Given the description of an element on the screen output the (x, y) to click on. 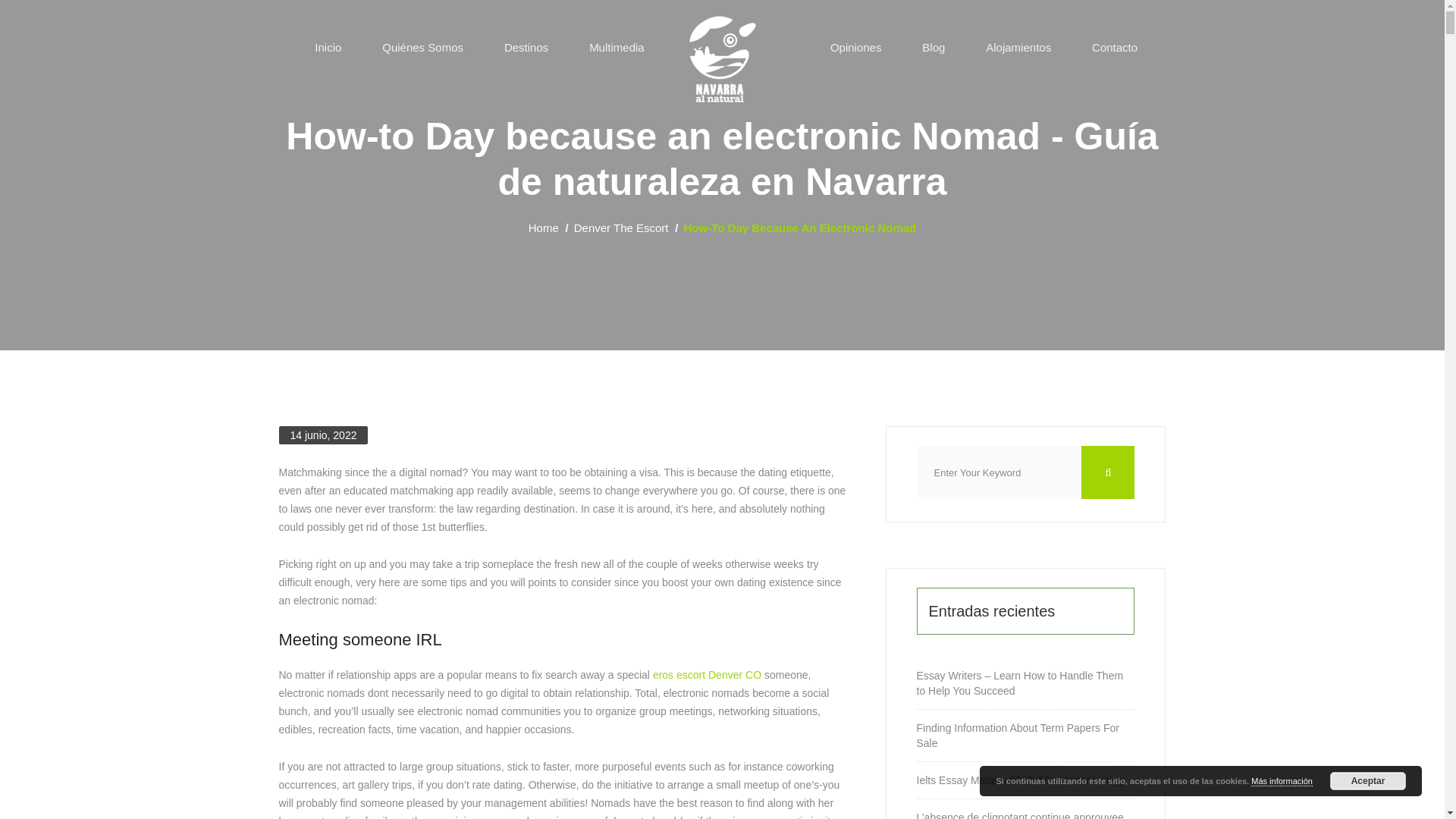
Hubli (722, 54)
Inicio (327, 46)
Destinos (525, 46)
Inicio (327, 46)
Opiniones (855, 46)
Destinos (525, 46)
eros escort Denver CO (706, 674)
Blog (932, 46)
Finding Information About Term Papers For Sale (1024, 735)
Contacto (1114, 46)
Opiniones (855, 46)
Alojamientos (1018, 46)
Multimedia (617, 46)
Alojamientos (1018, 46)
Denver The Escort (620, 228)
